Given the description of an element on the screen output the (x, y) to click on. 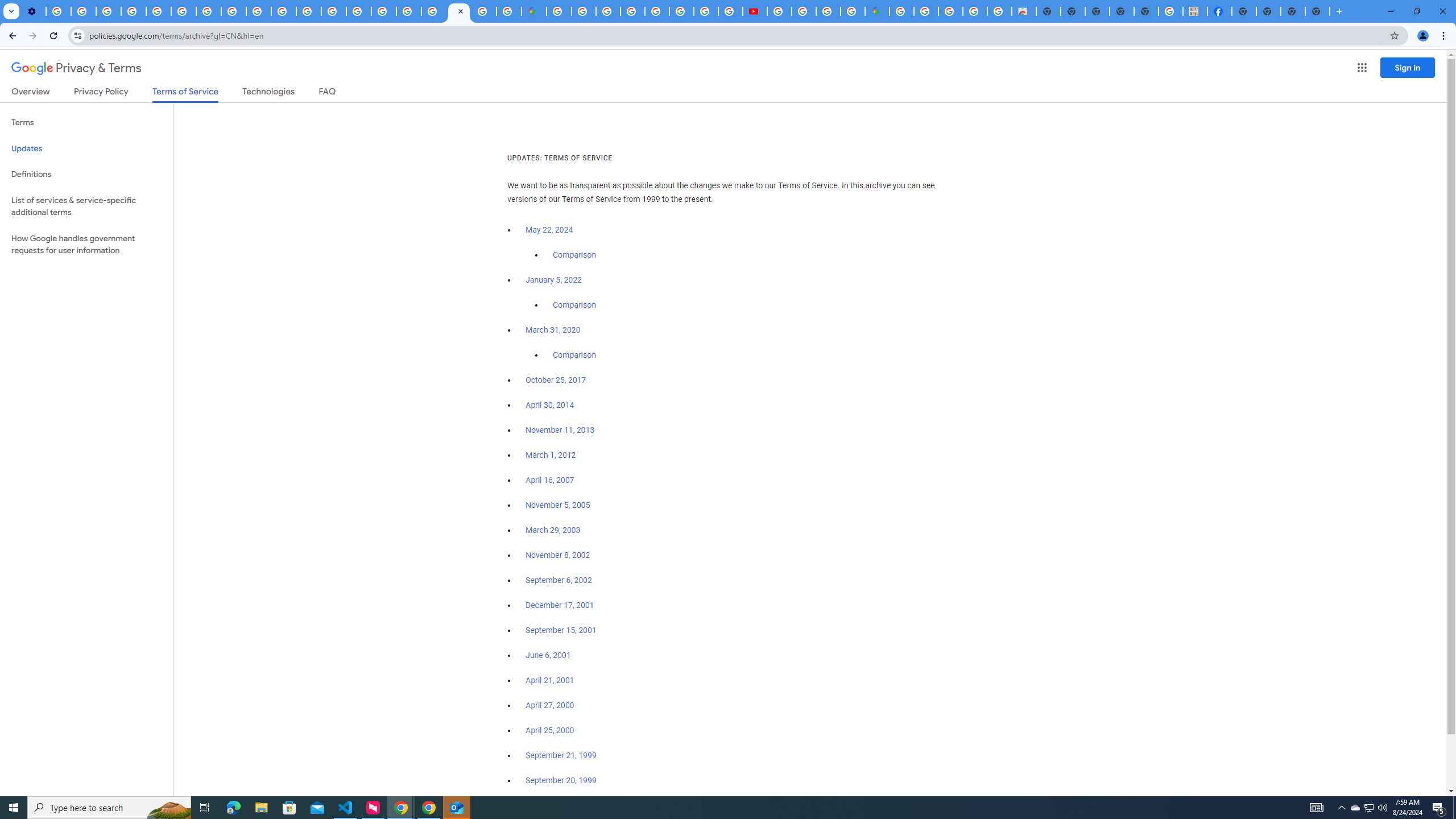
YouTube (182, 11)
December 17, 2001 (559, 605)
April 21, 2001 (550, 679)
March 31, 2020 (552, 330)
Settings - Customize profile (33, 11)
How Google handles government requests for user information (86, 244)
September 6, 2002 (558, 579)
